Given the description of an element on the screen output the (x, y) to click on. 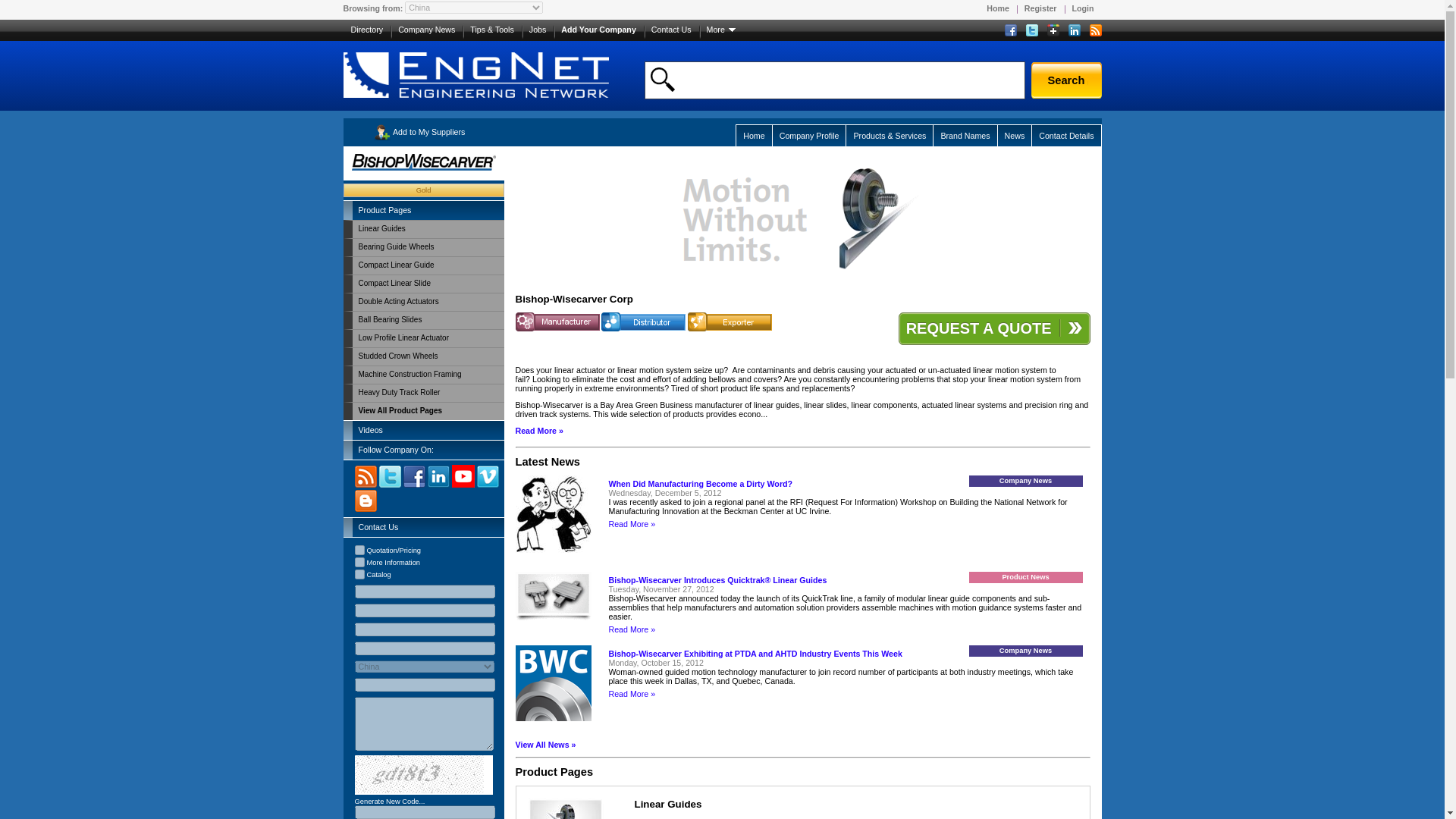
on (360, 550)
Contact Details (1065, 135)
Heavy Duty Track Roller (427, 393)
on (360, 574)
When Did Manufacturing Become a Dirty Word? (700, 483)
REQUEST A QUOTE (994, 328)
Engineering Network on Google Plus (1047, 32)
Machine Construction Framing (427, 375)
Add company to your list of suppliers (418, 131)
Engineering Network on Twitter (1026, 32)
Bearing Guide Wheels (427, 247)
Home (753, 135)
Linear Guides (427, 229)
Studded Crown Wheels (427, 356)
RSS Feed of Latest Products and News (1090, 32)
